Given the description of an element on the screen output the (x, y) to click on. 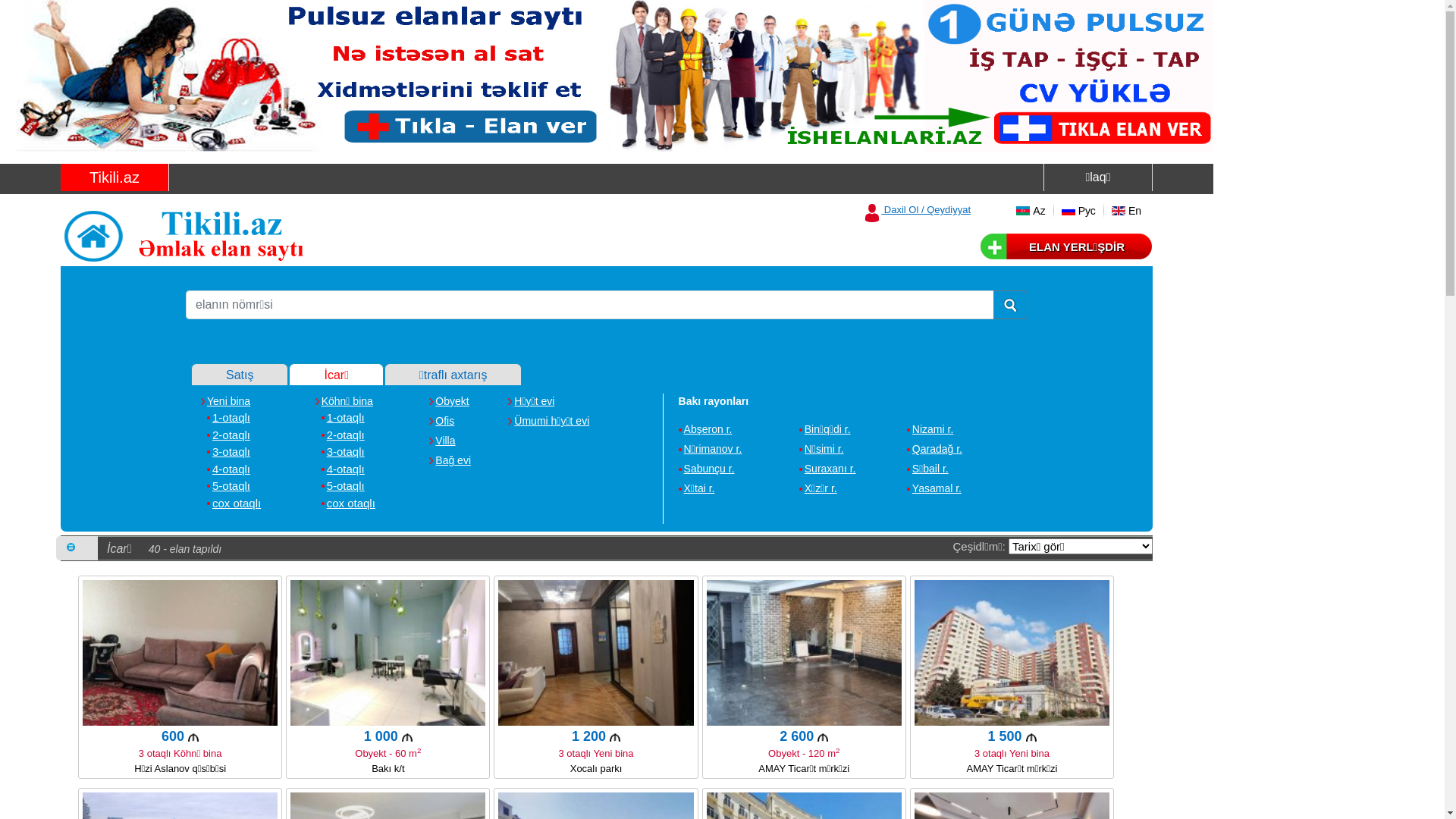
manat Element type: hover (614, 737)
manat Element type: hover (822, 737)
Az Element type: text (1030, 210)
manat Element type: hover (193, 737)
En Element type: text (1126, 210)
Ofis Element type: text (441, 420)
Yeni bina Element type: text (225, 401)
Yasamal r. Element type: text (933, 488)
manat Element type: hover (406, 737)
Villa Element type: text (442, 440)
manat Element type: hover (1030, 737)
Obyekt Element type: text (448, 401)
Tikili.az Element type: text (114, 177)
Nizami r. Element type: text (929, 429)
Daxil Ol / Qeydiyyat Element type: text (916, 209)
